Given the description of an element on the screen output the (x, y) to click on. 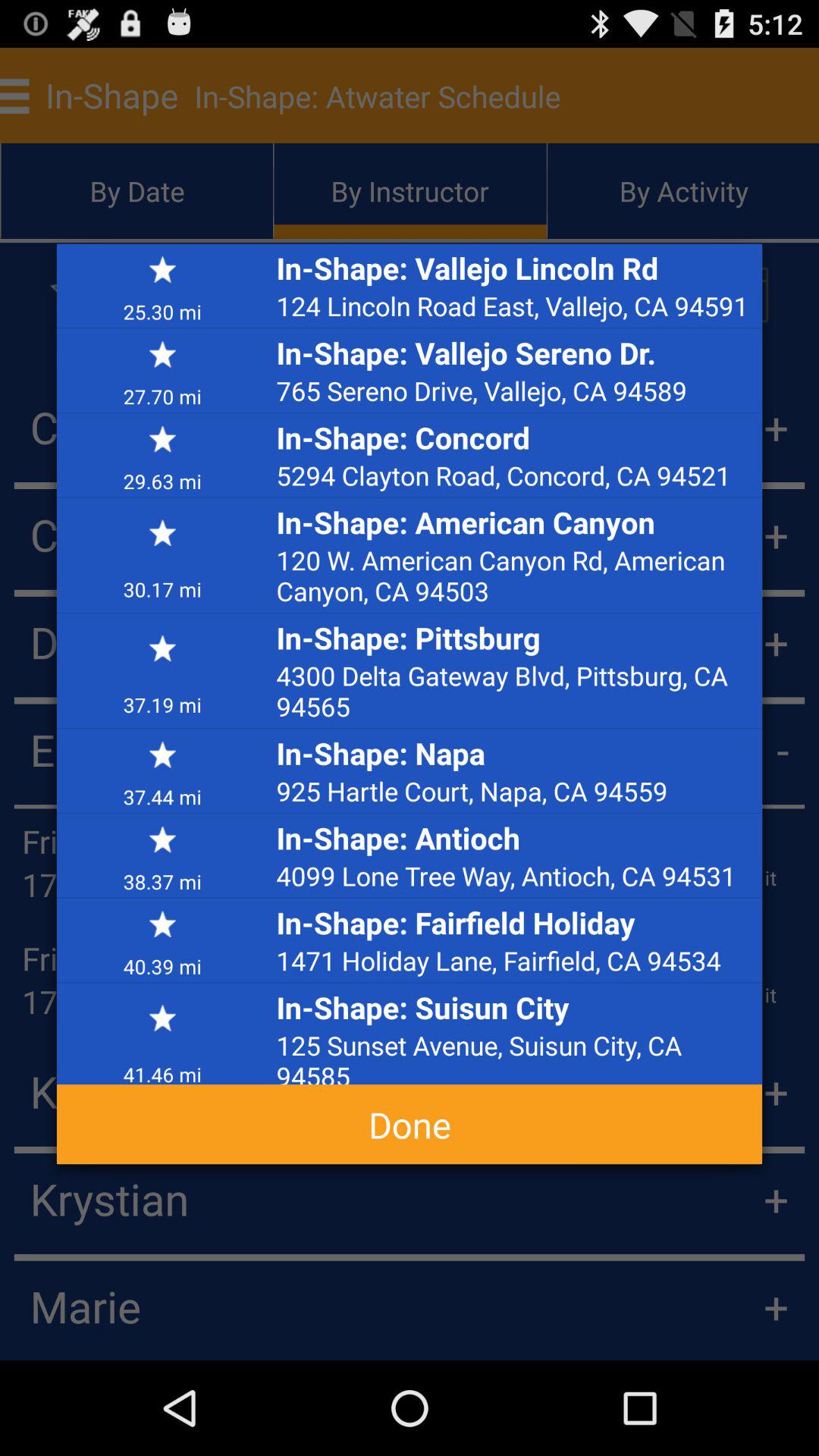
swipe to the 120 w american (515, 575)
